Given the description of an element on the screen output the (x, y) to click on. 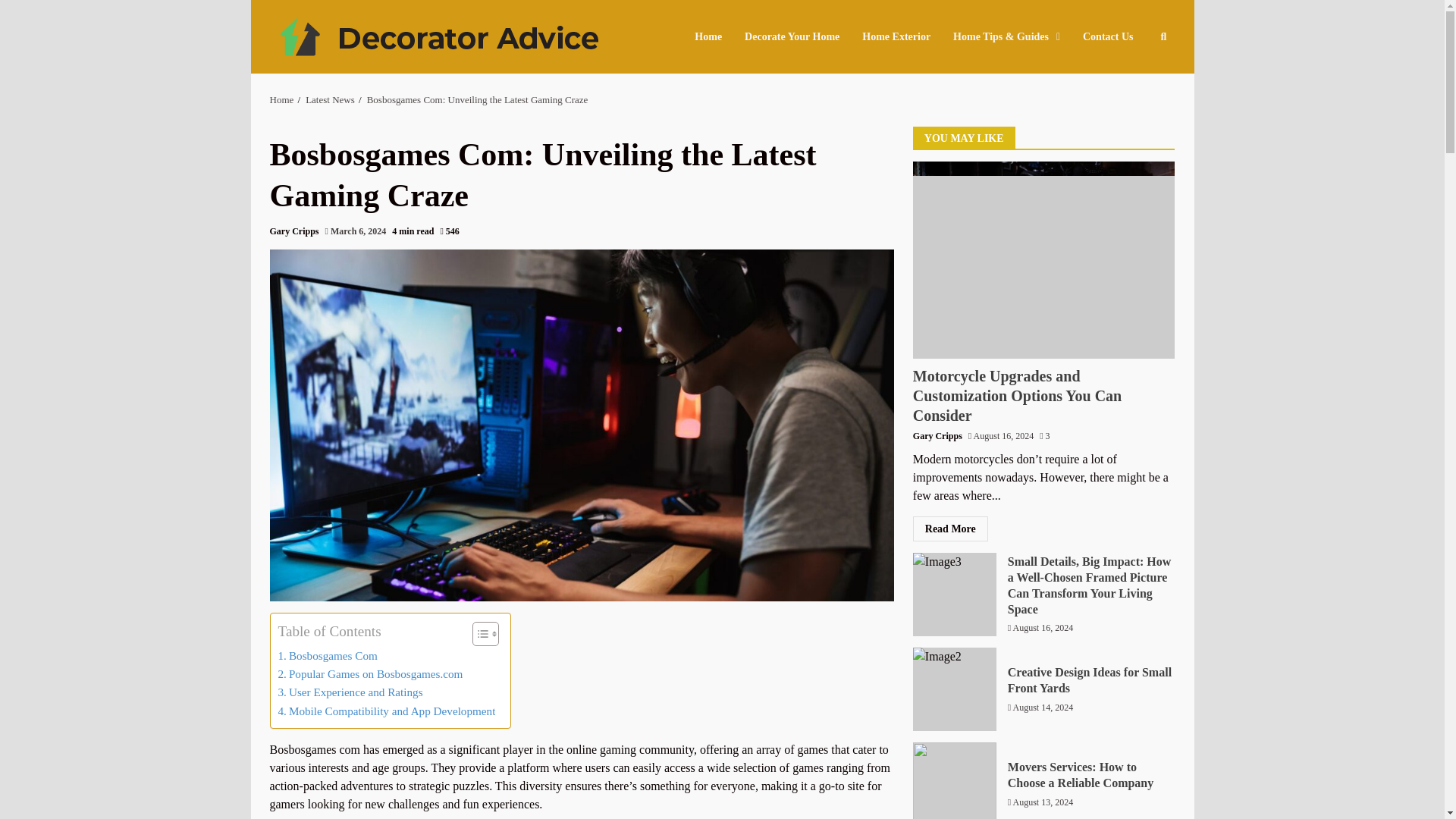
Home (713, 36)
User Experience and Ratings (350, 692)
Bosbosgames Com (327, 656)
Bosbosgames Com (327, 656)
Home (281, 99)
Decorate Your Home (791, 36)
Contact Us (1102, 36)
Mobile Compatibility and App Development (386, 710)
Latest News (330, 99)
546 (448, 231)
